Given the description of an element on the screen output the (x, y) to click on. 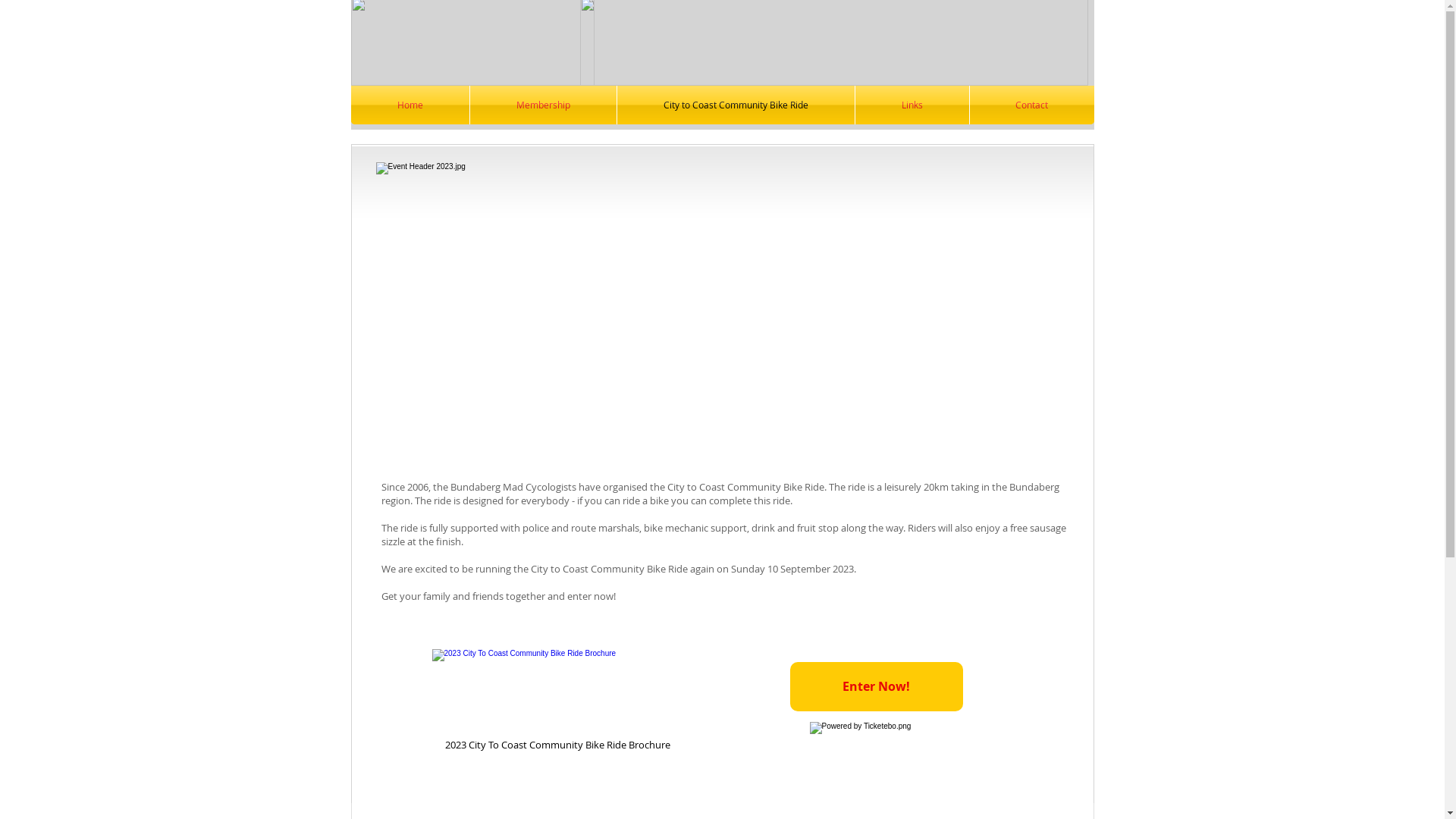
City to Coast Community Bike Ride Element type: text (735, 104)
Contact Element type: text (1031, 104)
Membership Element type: text (543, 104)
2015 Artwork.jpg Element type: hover (723, 312)
2023 City To Coast Community Bike Ride Brochure Element type: text (556, 702)
Links Element type: text (912, 104)
Enter Now! Element type: text (876, 686)
Home Element type: text (409, 104)
